Given the description of an element on the screen output the (x, y) to click on. 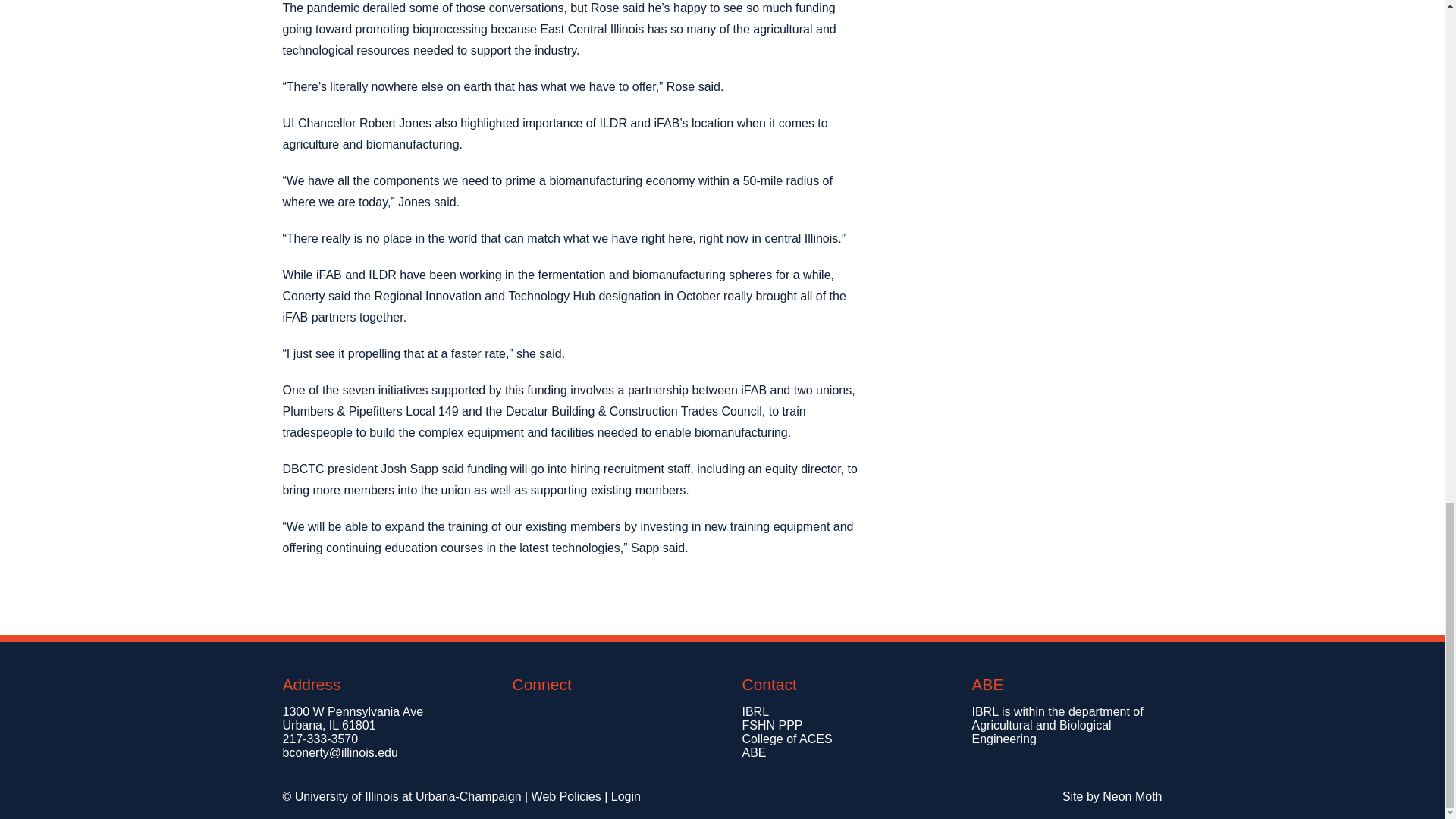
IBRL (754, 711)
FSHN PPP (771, 725)
